Given the description of an element on the screen output the (x, y) to click on. 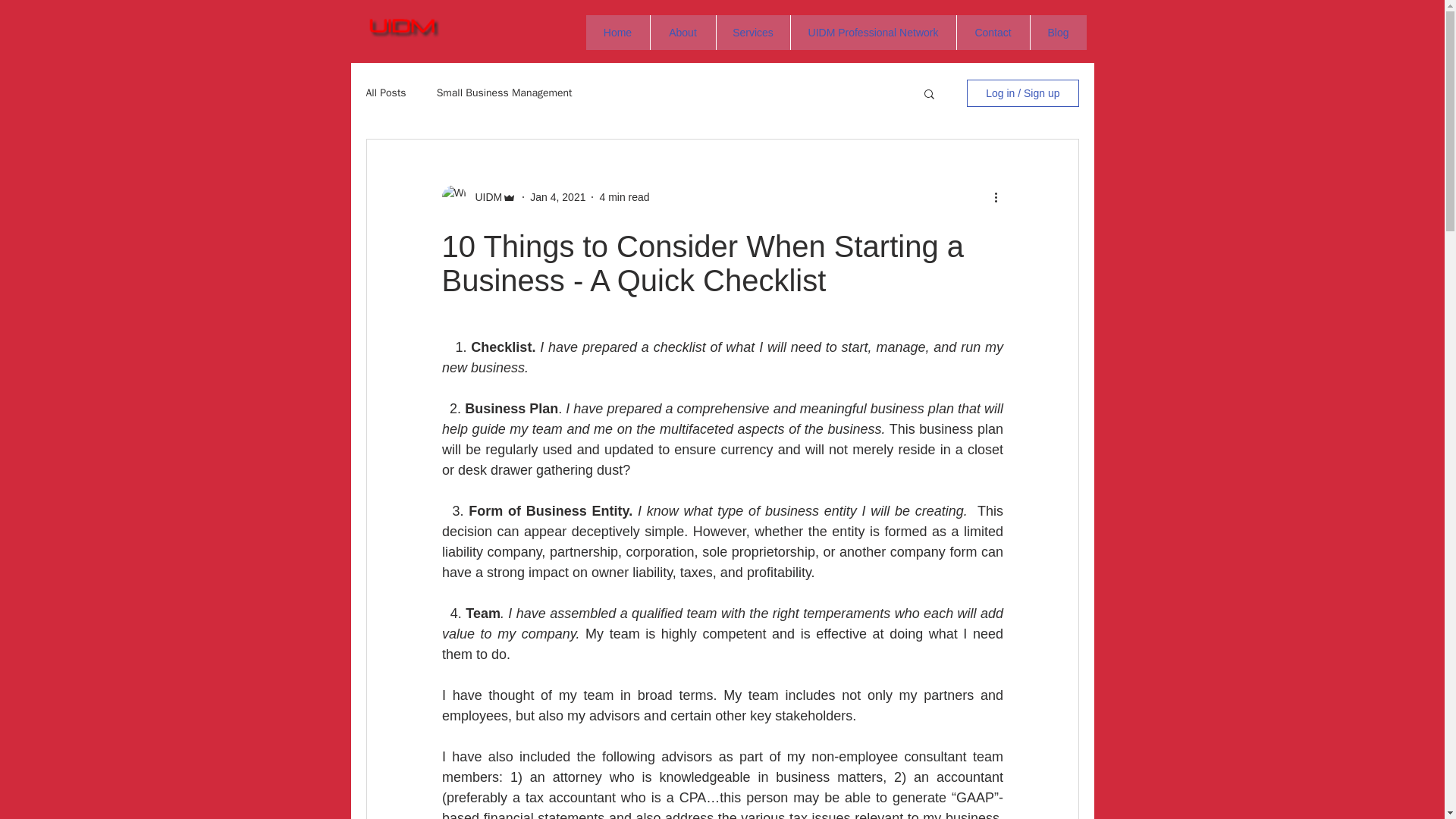
Home (617, 32)
Blog (1057, 32)
Small Business Management (504, 92)
UIDM (483, 197)
Jan 4, 2021 (557, 196)
All Posts (385, 92)
About (681, 32)
Contact (992, 32)
UIDM Professional Network (873, 32)
Services (753, 32)
